Given the description of an element on the screen output the (x, y) to click on. 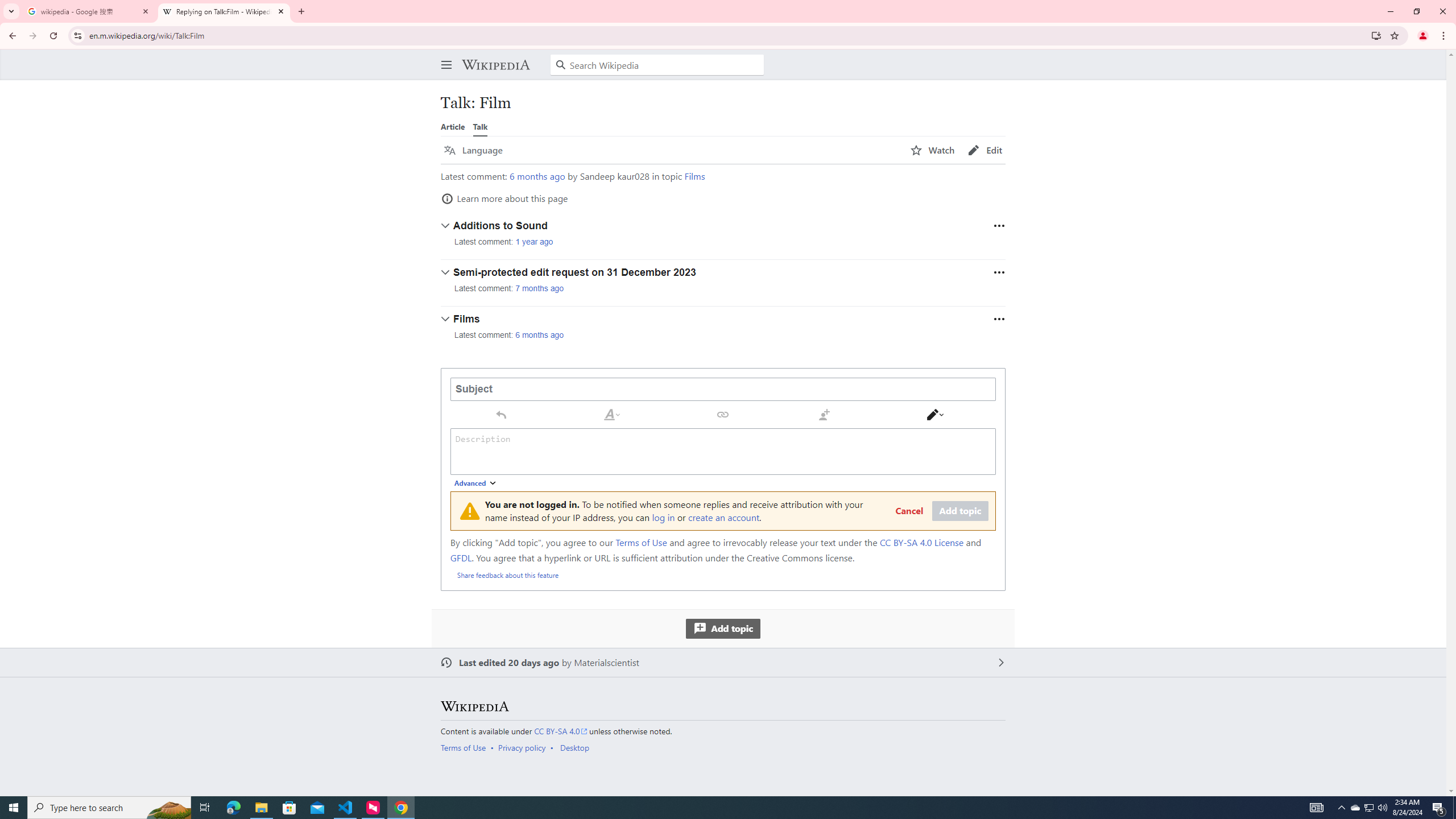
AutomationID: main-menu-input (443, 55)
Watch (932, 149)
Learn more about this page (504, 198)
6 months ago (539, 334)
AutomationID: footer-info-copyright (720, 731)
1 year ago (534, 241)
GFDL (460, 557)
Article (452, 126)
Last edited 20 days ago by Materialscientist (722, 662)
AutomationID: page-actions-watch (932, 150)
